Given the description of an element on the screen output the (x, y) to click on. 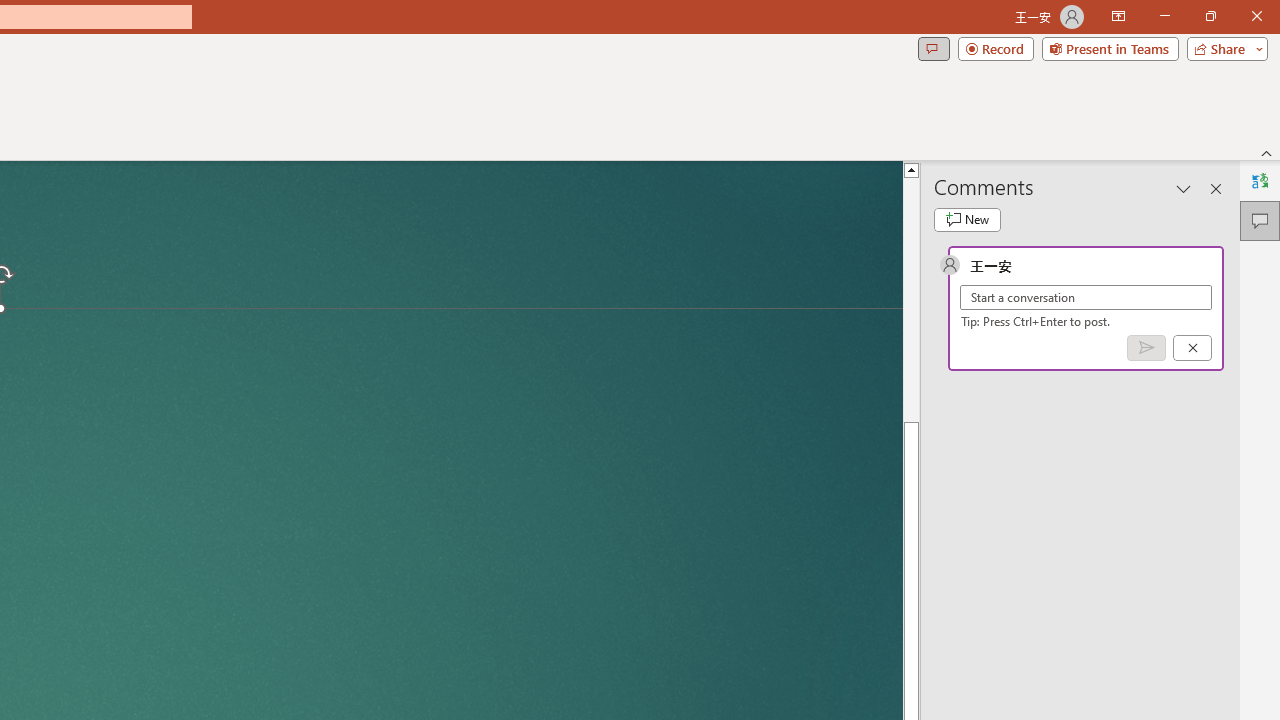
Close pane (1215, 188)
Translator (1260, 180)
Line up (911, 169)
Post comment (Ctrl + Enter) (1146, 347)
Start a conversation (1085, 297)
